Given the description of an element on the screen output the (x, y) to click on. 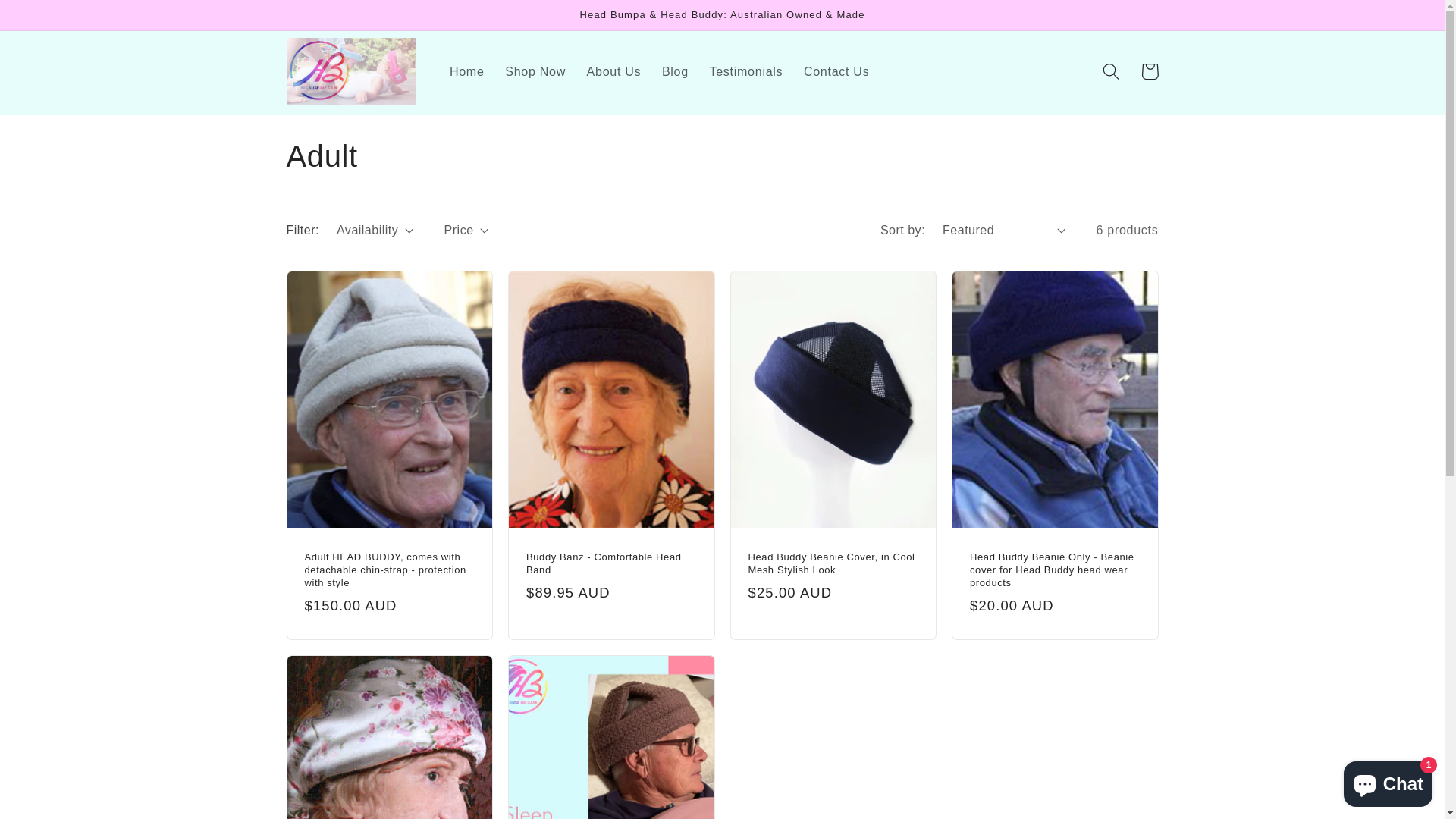
Shopify online store chat Element type: hover (1388, 780)
Contact Us Element type: text (836, 71)
Head Buddy Beanie Cover, in Cool Mesh Stylish Look Element type: text (832, 564)
Shop Now Element type: text (534, 71)
Buddy Banz - Comfortable Head Band Element type: text (611, 564)
Blog Element type: text (675, 71)
About Us Element type: text (613, 71)
Testimonials Element type: text (746, 71)
Home Element type: text (466, 71)
Cart Element type: text (1149, 71)
